Given the description of an element on the screen output the (x, y) to click on. 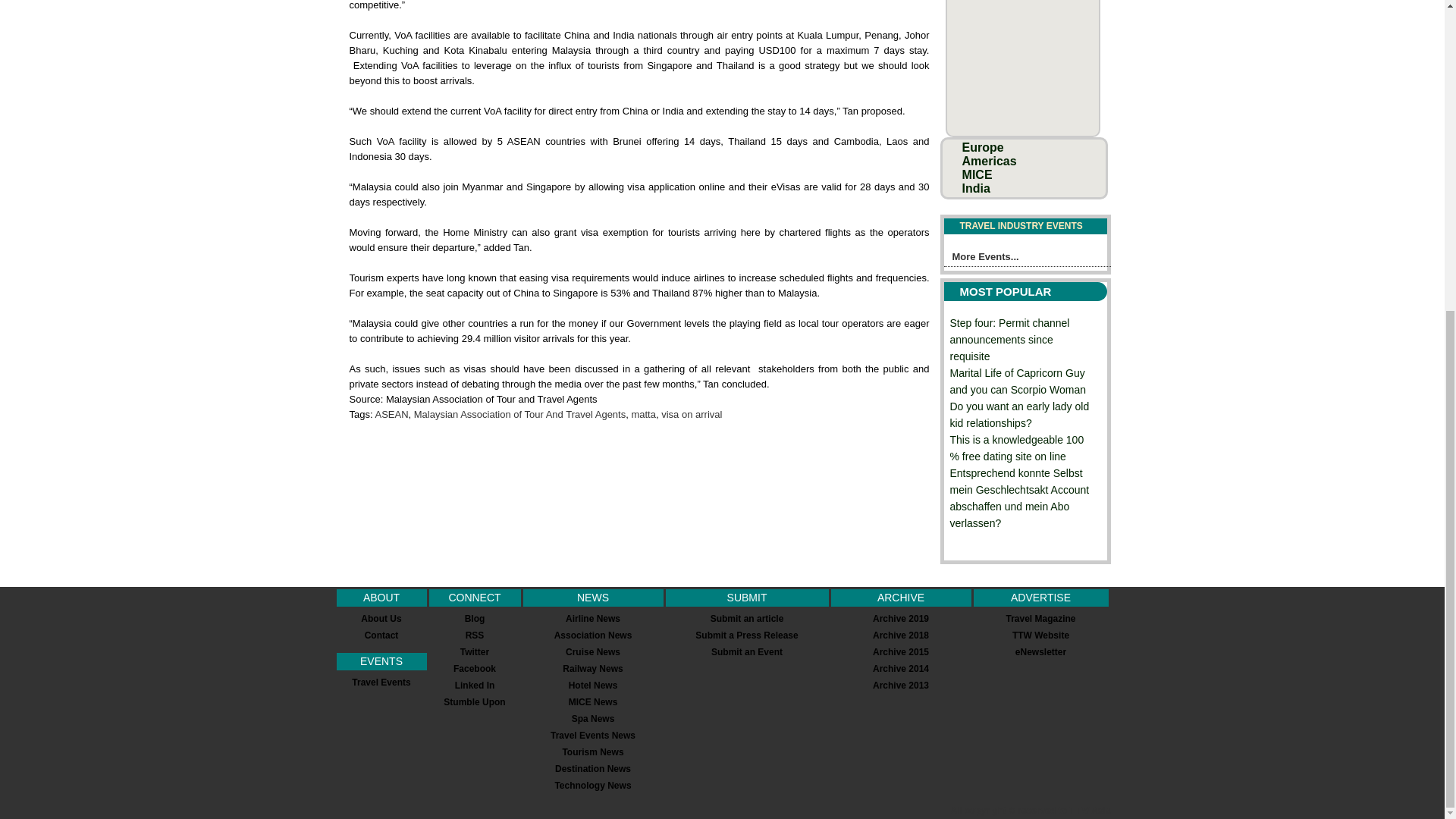
Europe (983, 146)
matta (643, 414)
MICE (977, 174)
Facebook (474, 668)
Marital Life of Capricorn Guy and you can Scorpio Woman (1017, 380)
Twitter (474, 652)
Travel Events (381, 682)
RSS (474, 634)
Step four: Permit channel announcements since requisite (1008, 339)
